Given the description of an element on the screen output the (x, y) to click on. 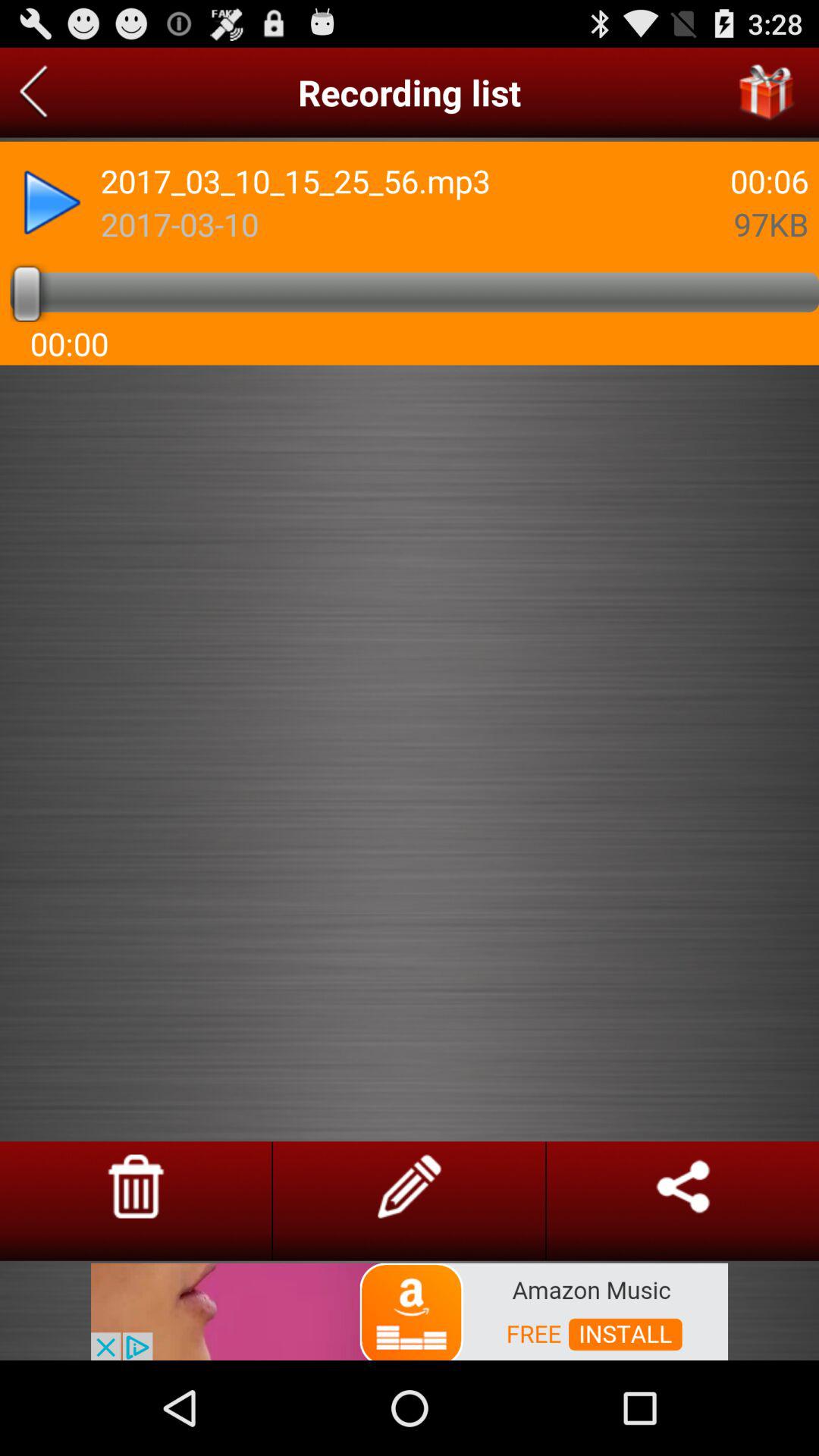
for share (682, 1186)
